Given the description of an element on the screen output the (x, y) to click on. 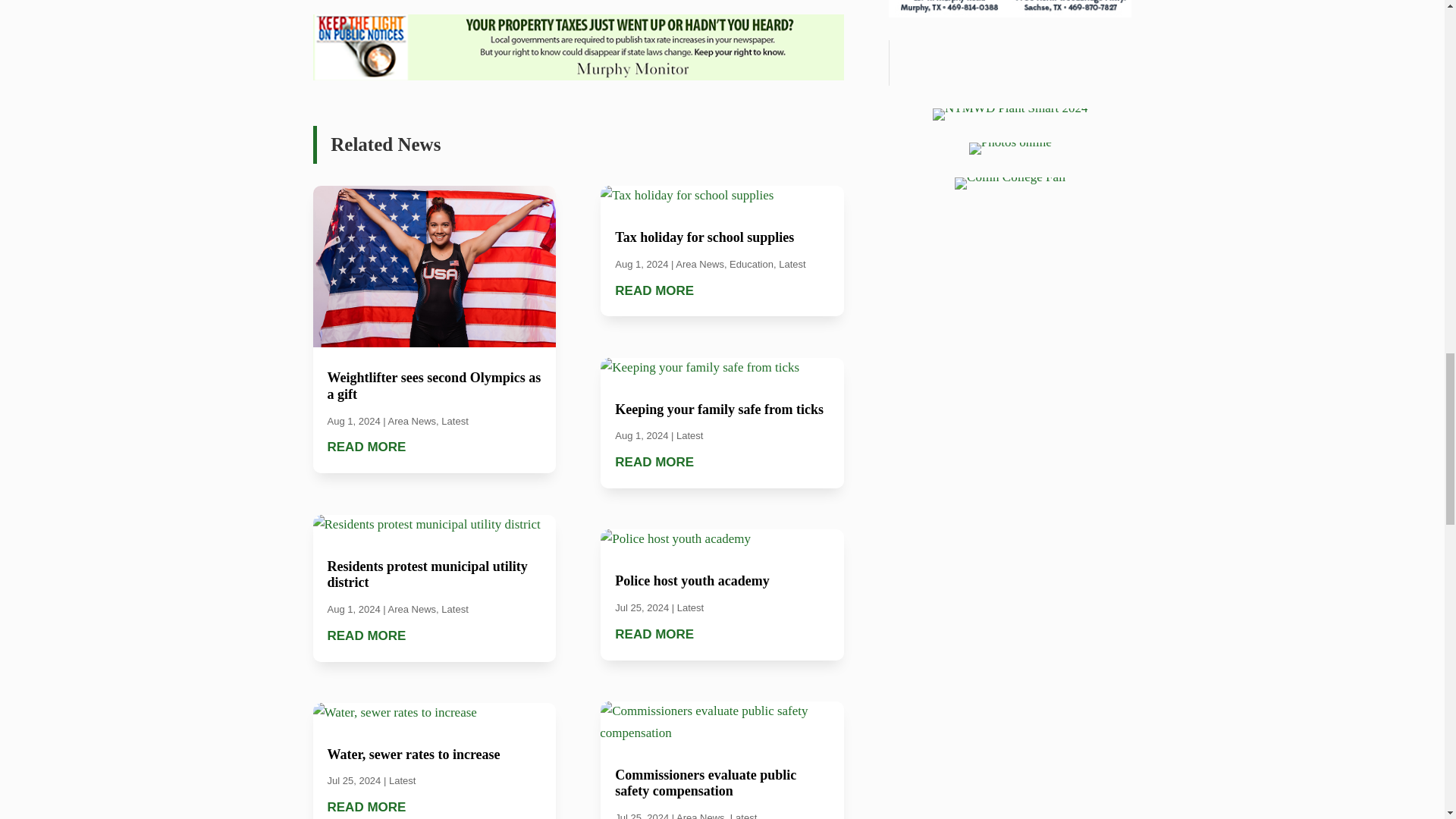
MM-300x250 (578, 47)
FY24-Summer-KnowWhenToWater-Static Ads 300x250 (1010, 114)
Jersey Mikes 15095 Web banner Above 300x250 (1009, 8)
